Given the description of an element on the screen output the (x, y) to click on. 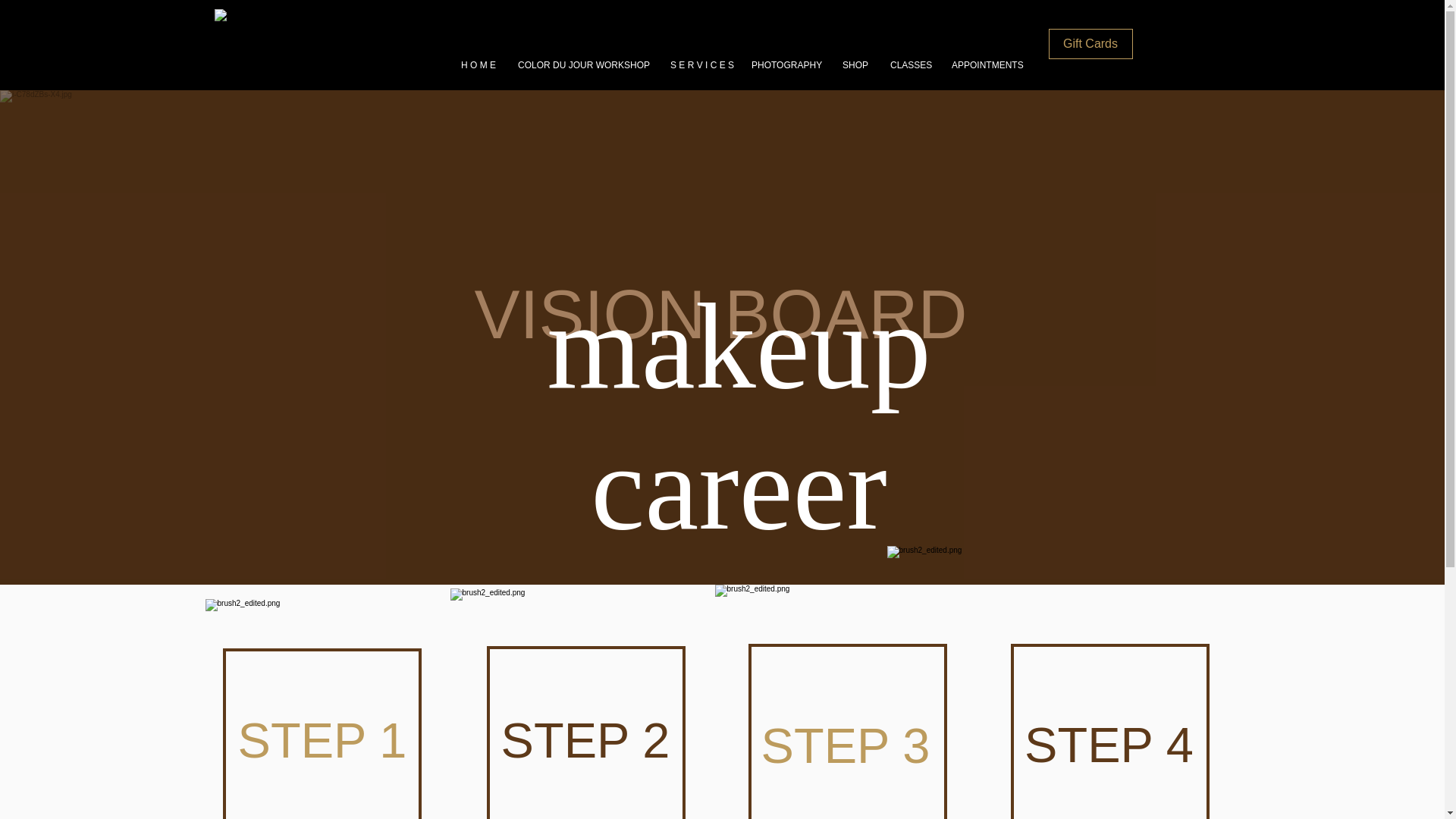
COLOR DU JOUR WORKSHOP (582, 64)
PHOTOGRAPHY (785, 64)
Gift Cards (1090, 43)
CDJ copy.jpg (272, 43)
S E R V I C E S (699, 64)
H O M E (477, 64)
SHOP (855, 64)
